Given the description of an element on the screen output the (x, y) to click on. 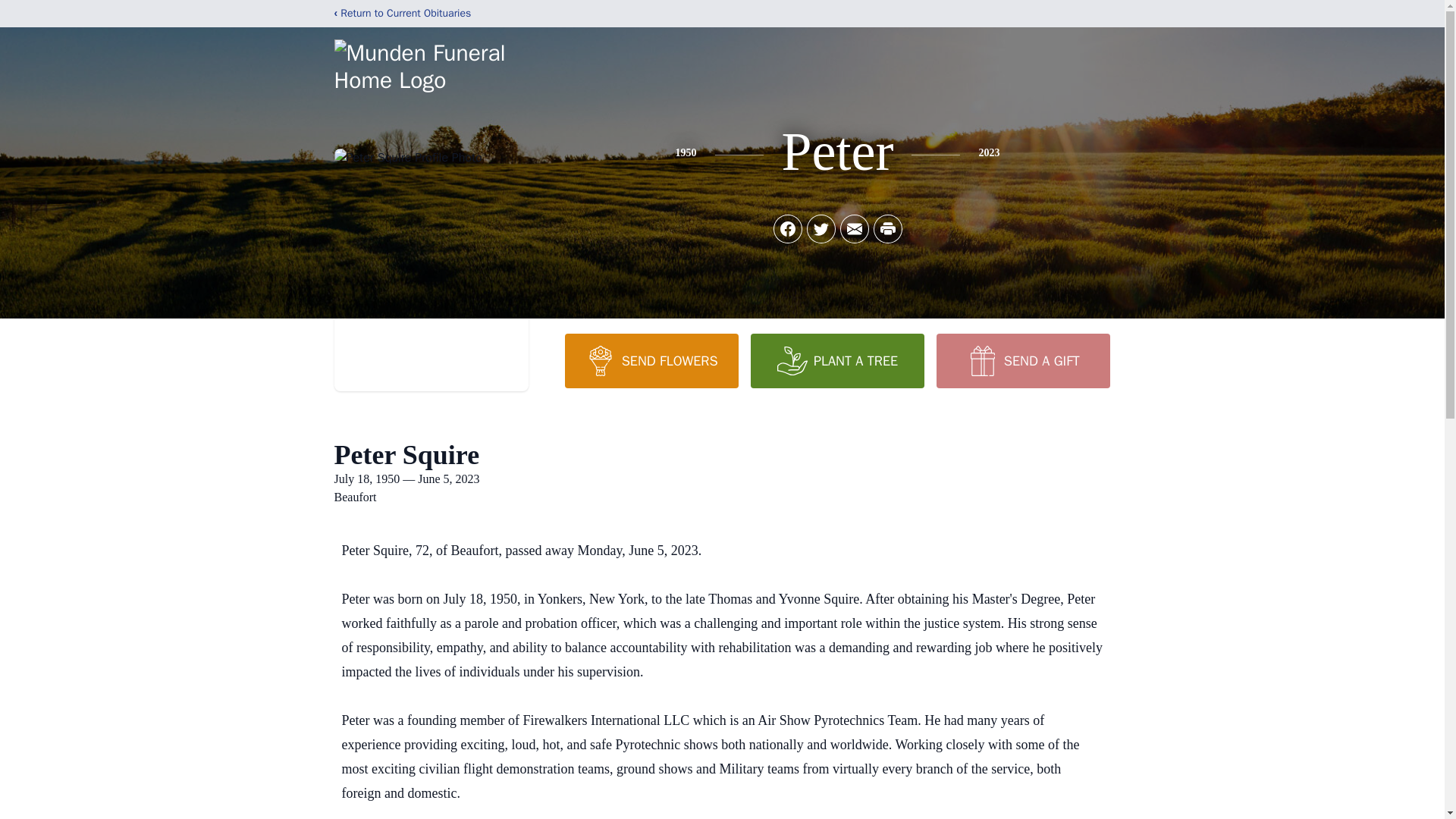
SEND FLOWERS (651, 360)
SEND A GIFT (1022, 360)
PLANT A TREE (837, 360)
